Given the description of an element on the screen output the (x, y) to click on. 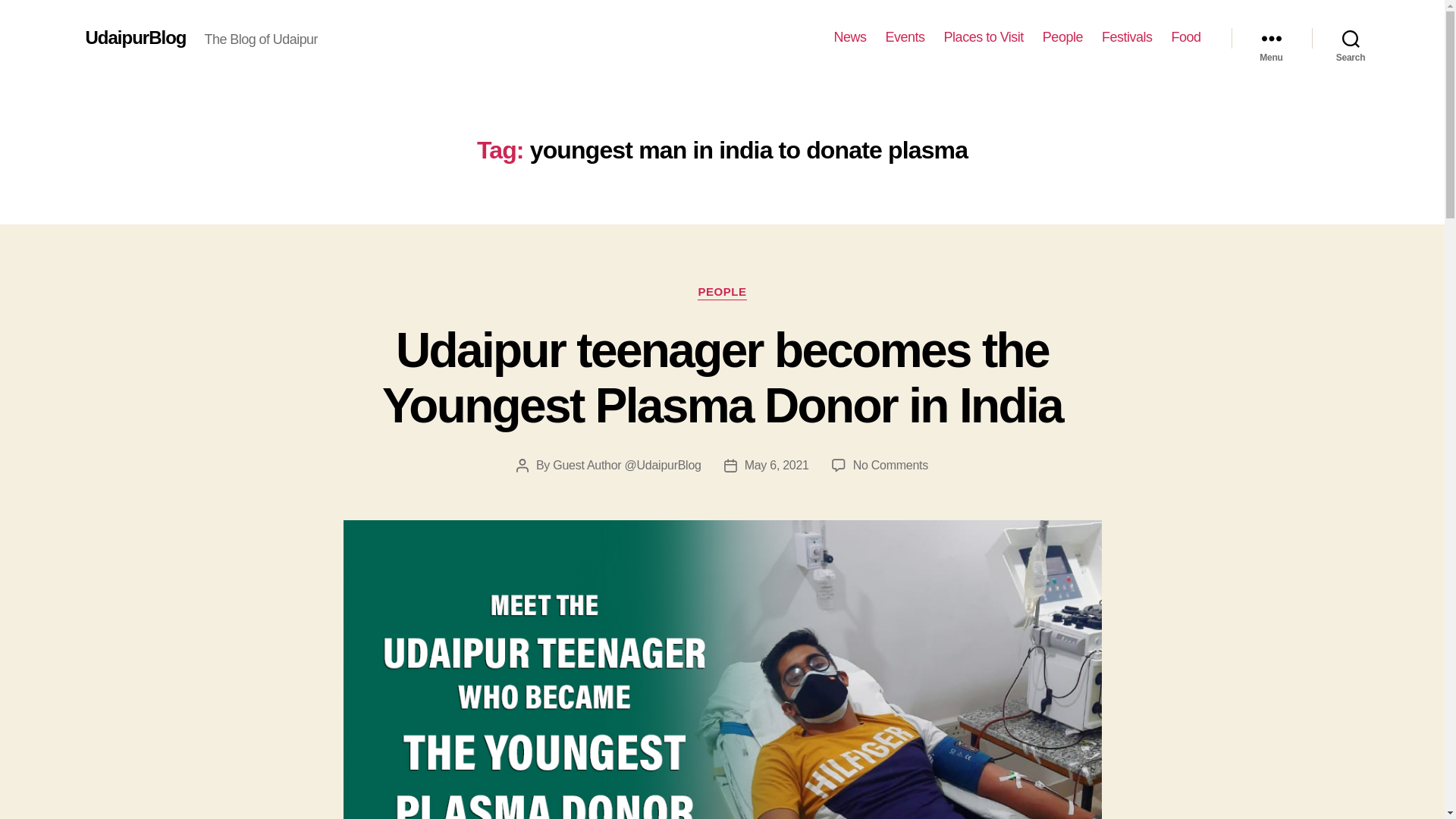
People (1062, 37)
Food (1184, 37)
Festivals (1127, 37)
Events (904, 37)
News (850, 37)
PEOPLE (721, 292)
Places to Visit (983, 37)
UdaipurBlog (135, 37)
May 6, 2021 (776, 464)
Menu (1271, 37)
Udaipur teenager becomes the Youngest Plasma Donor in India (721, 377)
Search (1350, 37)
